Given the description of an element on the screen output the (x, y) to click on. 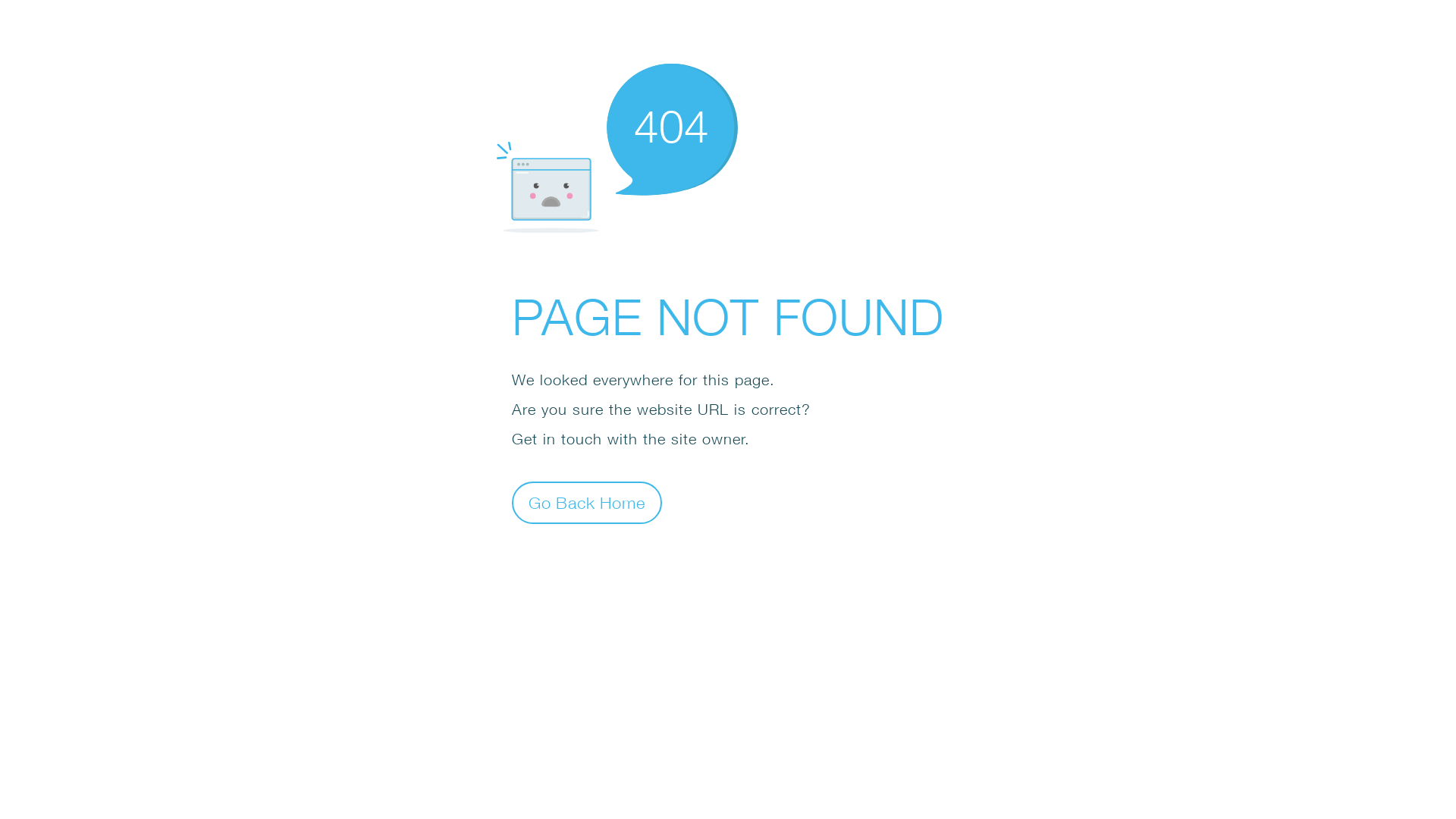
Go Back Home Element type: text (586, 502)
